Given the description of an element on the screen output the (x, y) to click on. 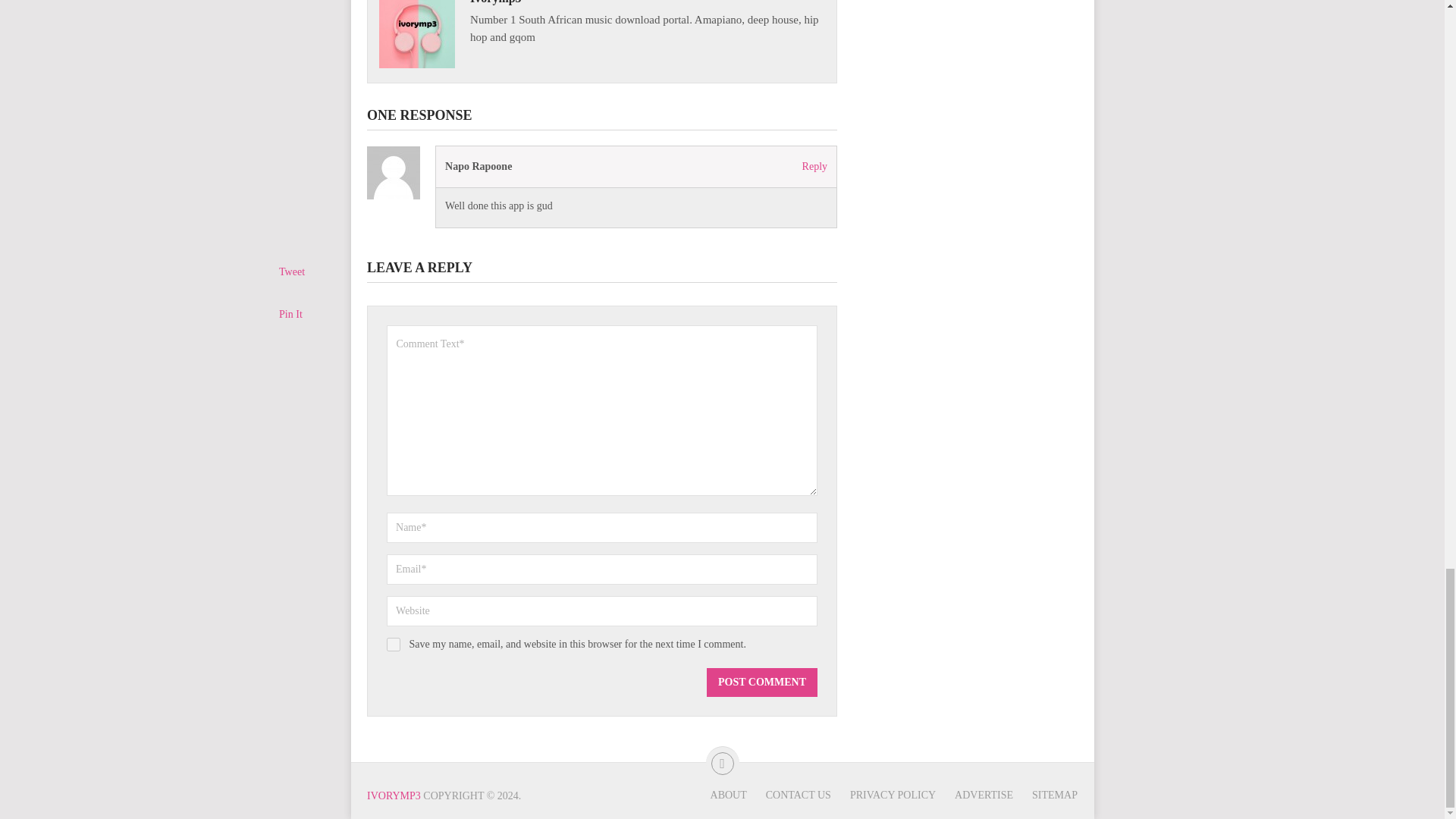
Post Comment (761, 682)
yes (393, 644)
